Given the description of an element on the screen output the (x, y) to click on. 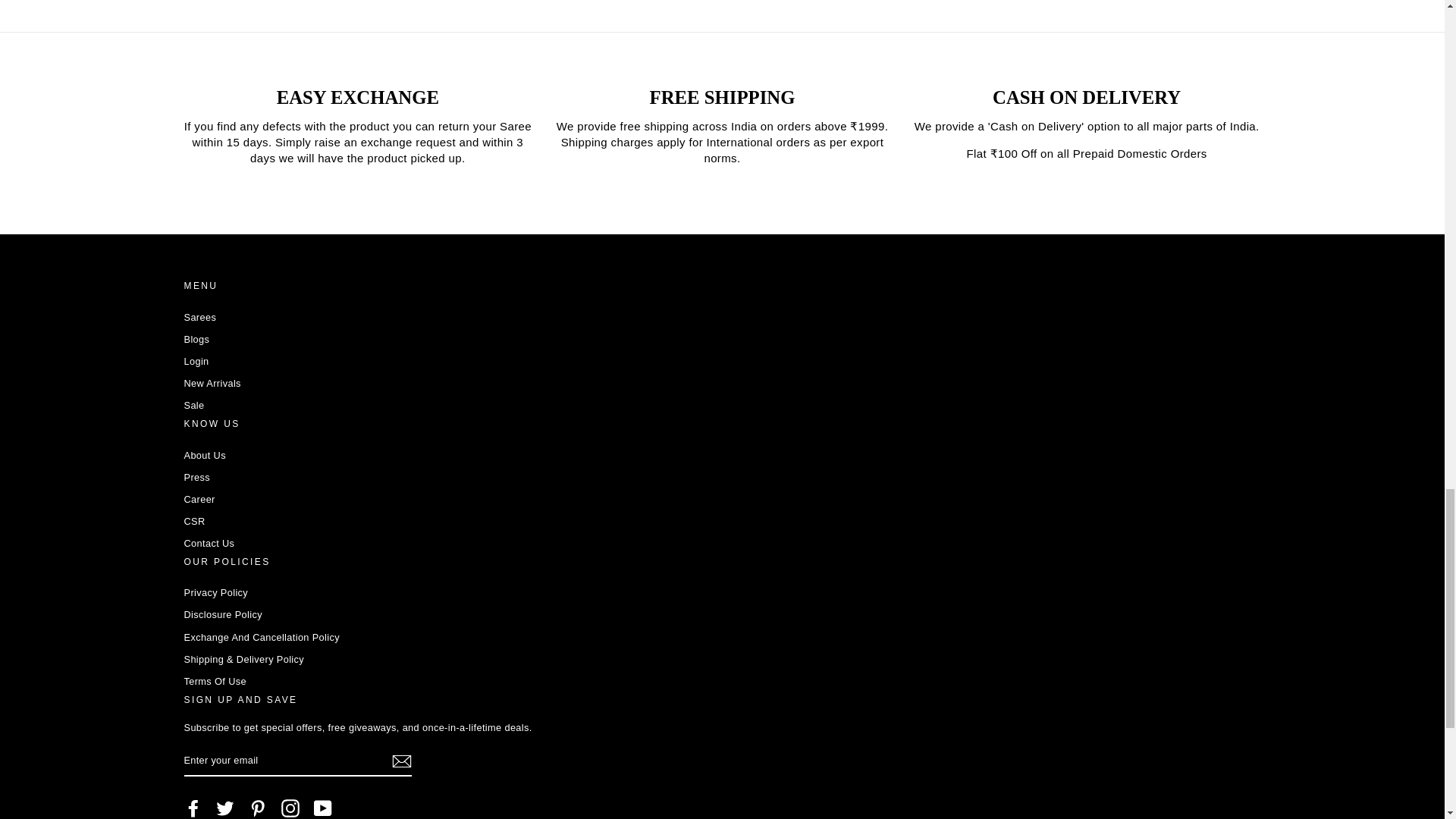
Aura Studio India on Facebook (192, 808)
Aura Studio India on Twitter (224, 808)
Aura Studio India on Instagram (290, 808)
Aura Studio India on Pinterest (257, 808)
Aura Studio India on YouTube (322, 808)
